Given the description of an element on the screen output the (x, y) to click on. 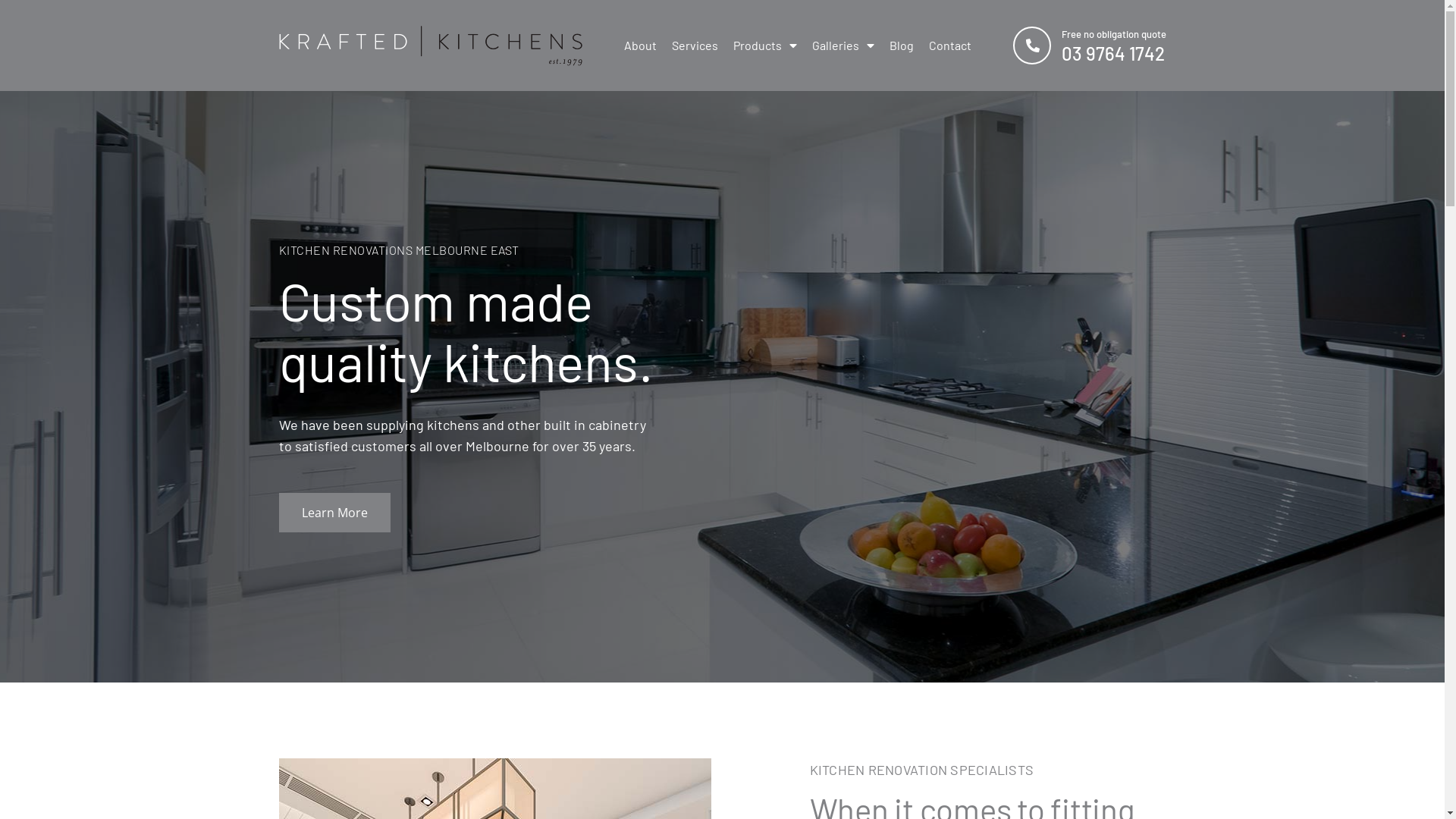
Products Element type: text (764, 45)
03 9764 1742 Element type: text (1112, 53)
Galleries Element type: text (842, 45)
Contact Element type: text (949, 45)
About Element type: text (639, 45)
Learn More Element type: text (334, 512)
Blog Element type: text (900, 45)
Services Element type: text (694, 45)
